Given the description of an element on the screen output the (x, y) to click on. 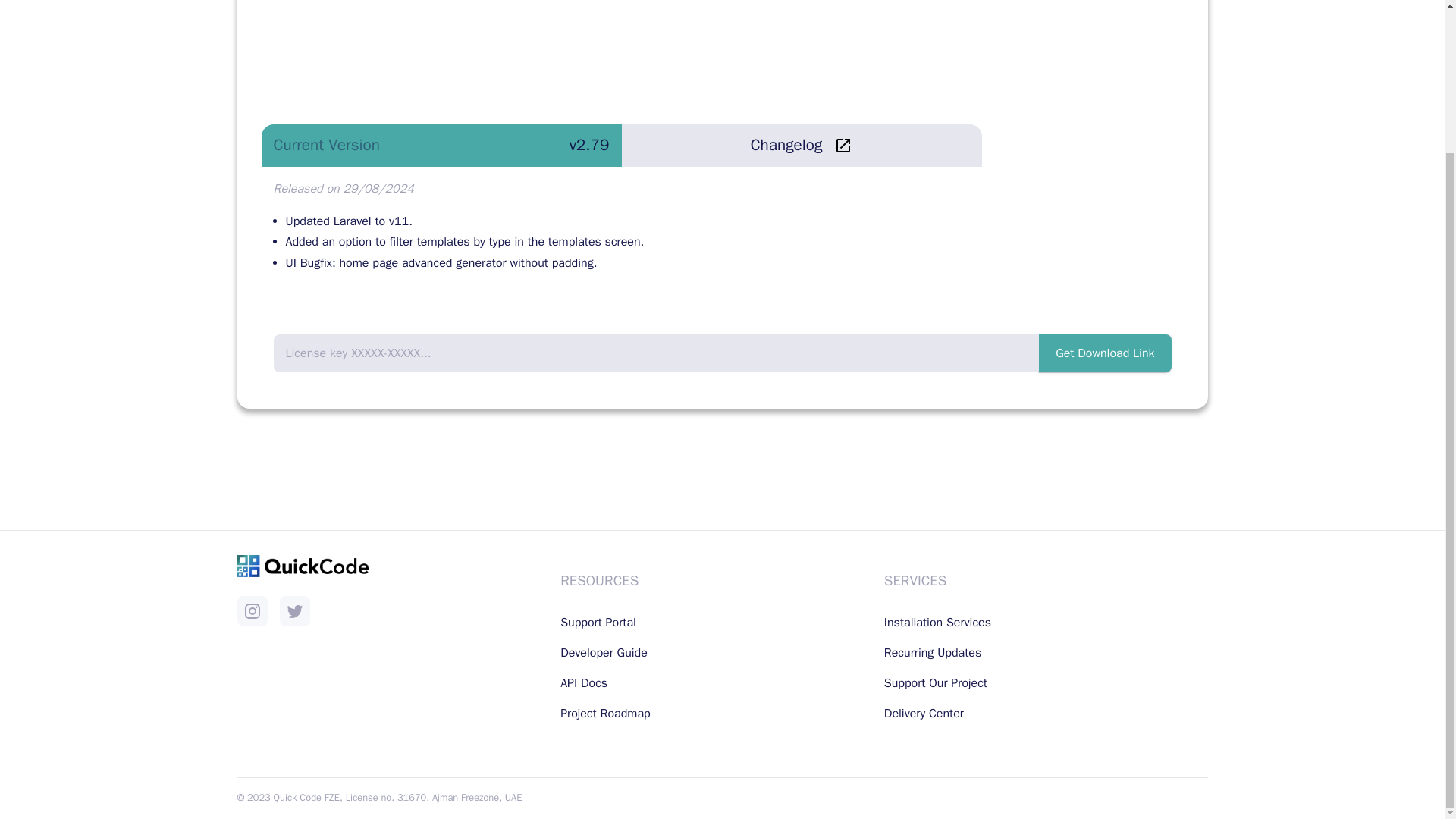
Get Download Link (1104, 353)
Support Portal (598, 622)
Installation Services (937, 622)
Changelog (801, 145)
Project Roadmap (605, 713)
API Docs (583, 683)
Recurring Updates (932, 652)
Support Our Project (935, 683)
Developer Guide (603, 652)
Delivery Center (923, 713)
